Given the description of an element on the screen output the (x, y) to click on. 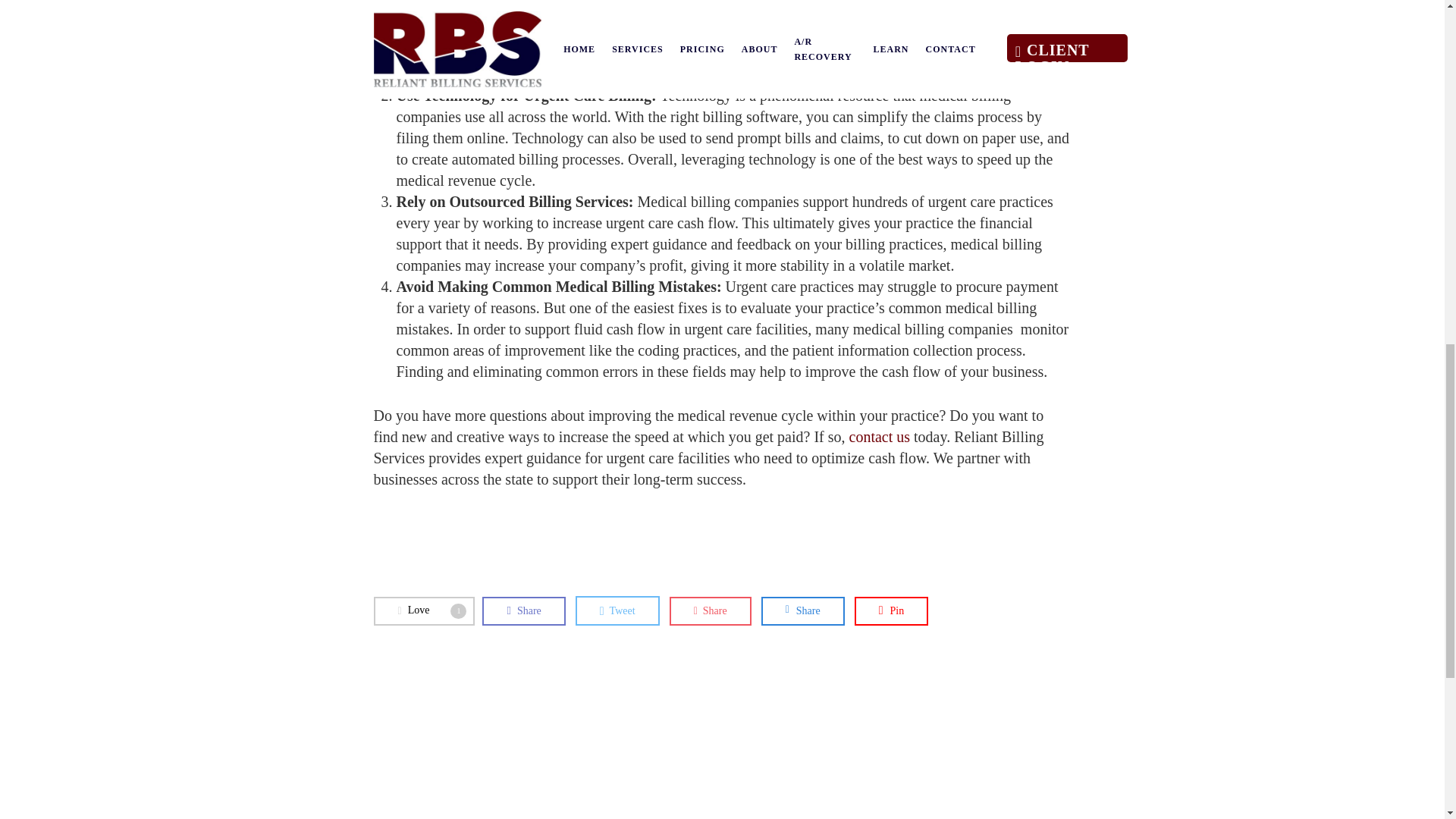
Share this (522, 611)
Pin this (891, 611)
Pin (891, 611)
Share this (802, 611)
Share (522, 611)
Share (802, 611)
Tweet (617, 610)
Tweet this (617, 610)
Share this (423, 611)
